Given the description of an element on the screen output the (x, y) to click on. 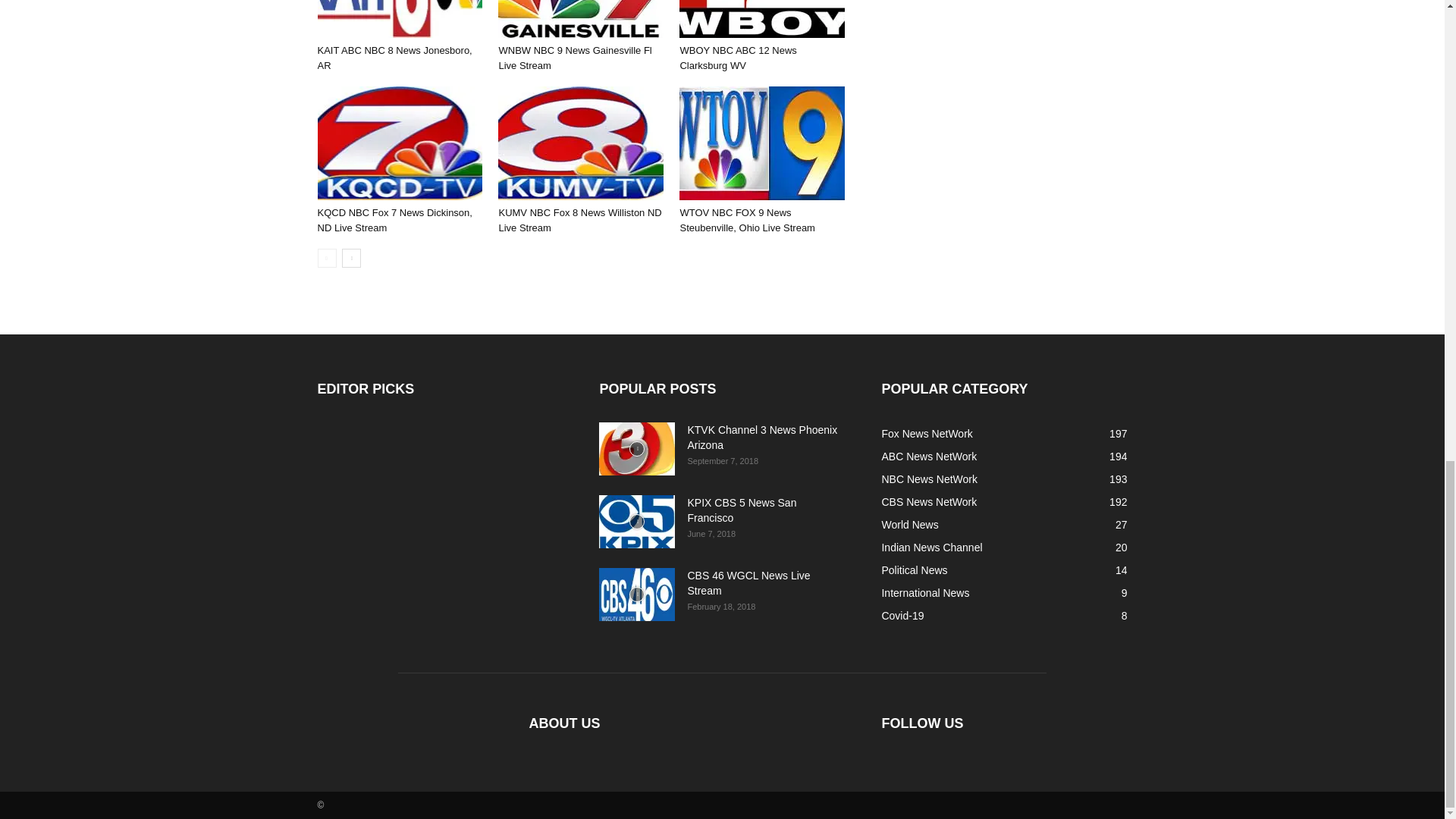
KAIT ABC NBC 8 News Jonesboro, AR (399, 18)
KAIT ABC NBC 8 News Jonesboro, AR (394, 58)
